Given the description of an element on the screen output the (x, y) to click on. 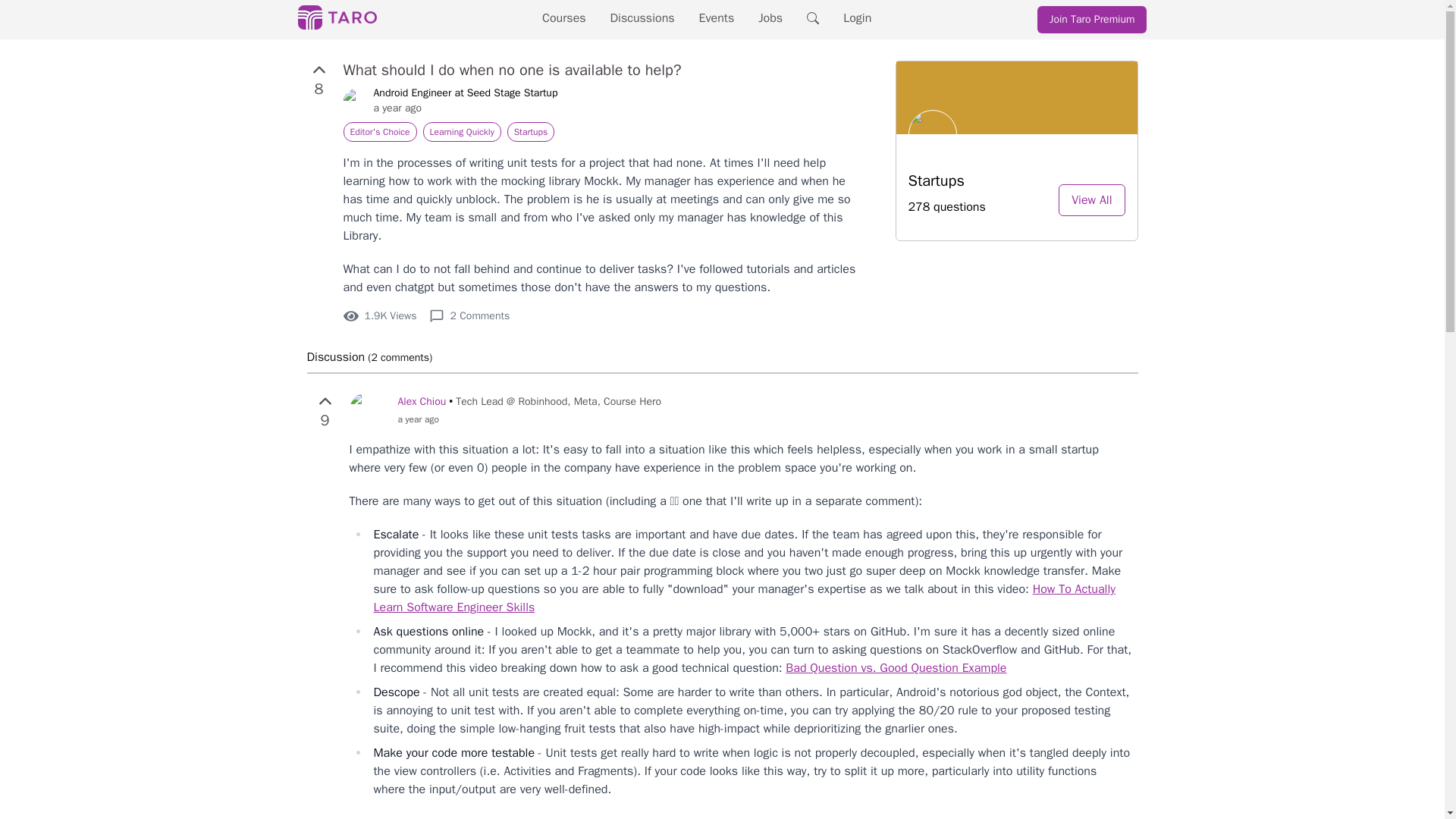
View All (1091, 200)
View All (1091, 200)
Startups (530, 131)
Sunday June 18, 6:12pm (529, 419)
Editor's Choice (379, 131)
Monday June 12, 11:12pm (464, 108)
Discussions (642, 17)
Join Taro Premium (1091, 19)
How To Actually Learn Software Engineer Skills (743, 598)
Events (716, 17)
